Given the description of an element on the screen output the (x, y) to click on. 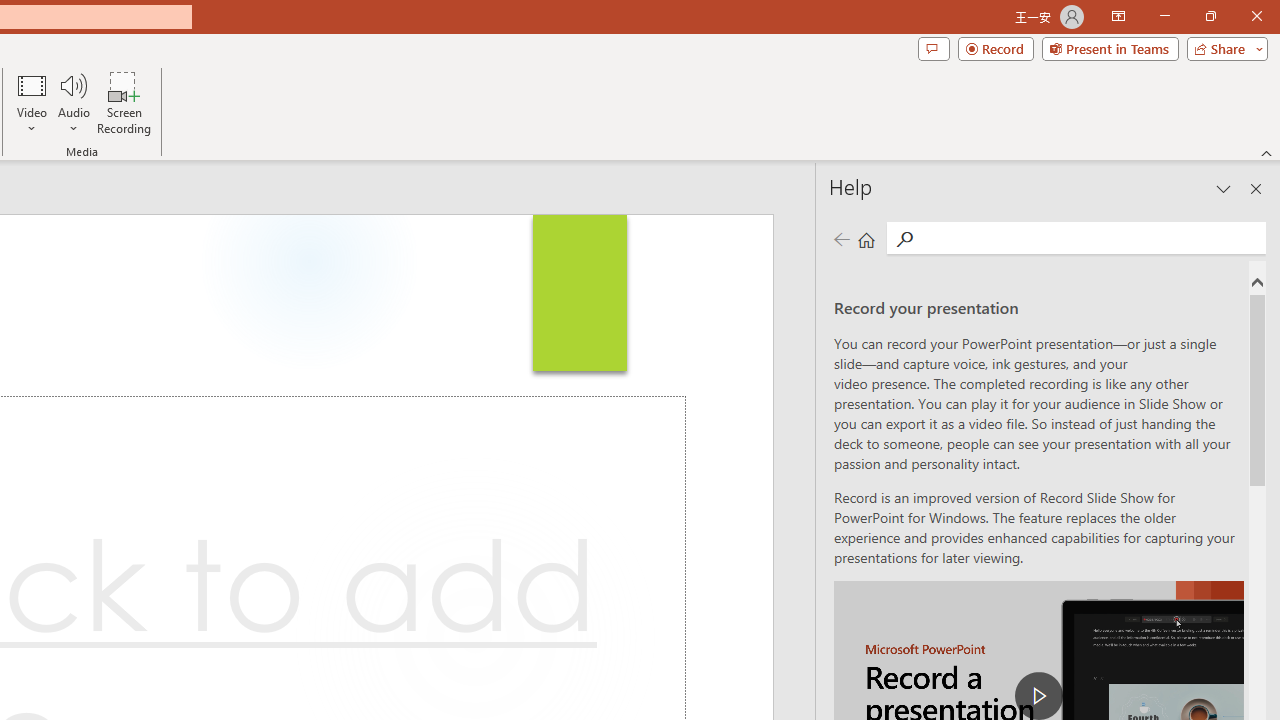
Video (31, 102)
Previous page (841, 238)
Screen Recording... (123, 102)
